Given the description of an element on the screen output the (x, y) to click on. 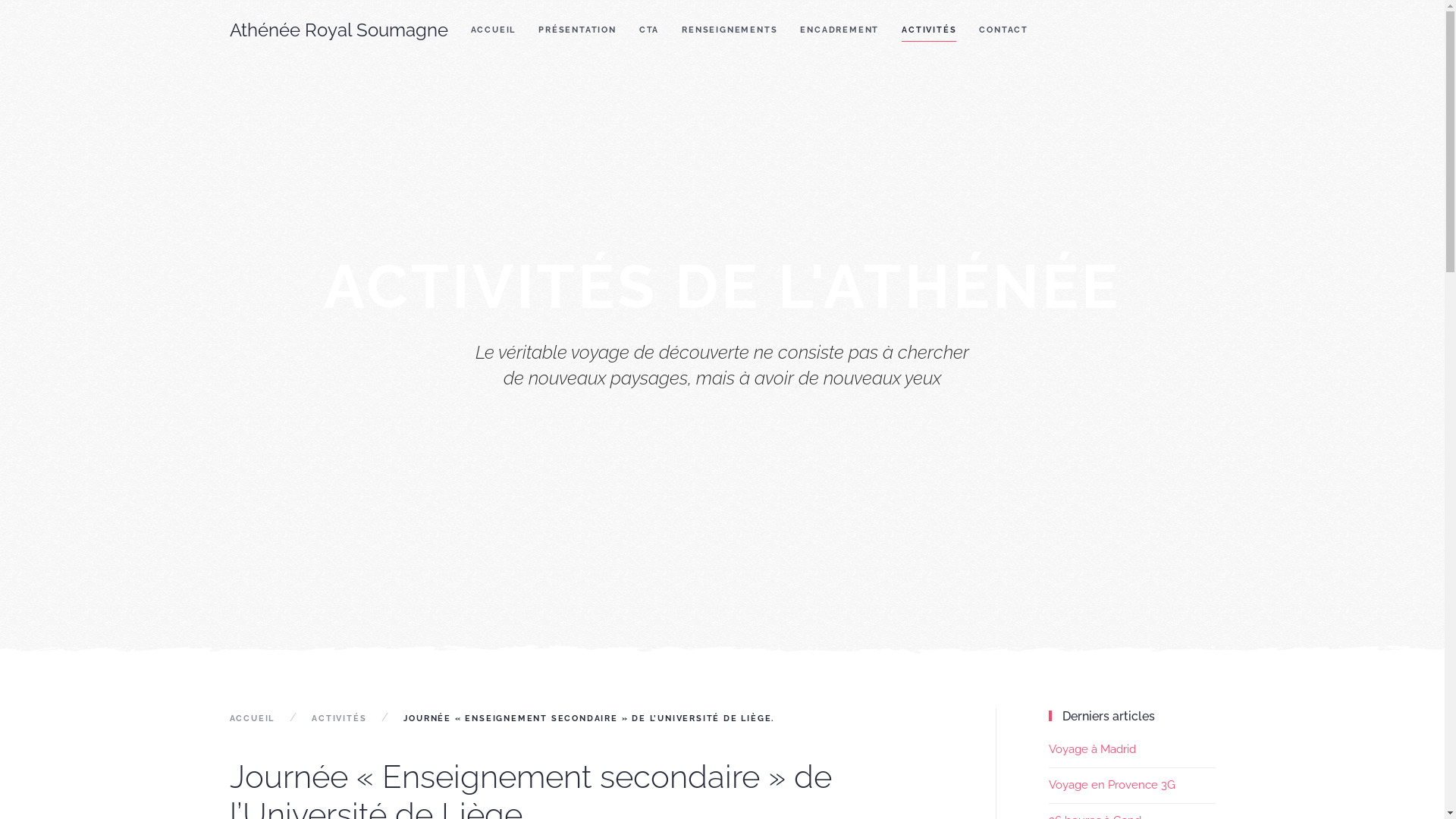
ACCUEIL Element type: text (493, 30)
CTA Element type: text (648, 30)
RENSEIGNEMENTS Element type: text (729, 30)
Voyage en Provence 3G Element type: text (1111, 784)
CONTACT Element type: text (1003, 30)
ACCUEIL Element type: text (251, 718)
ENCADREMENT Element type: text (839, 30)
